Given the description of an element on the screen output the (x, y) to click on. 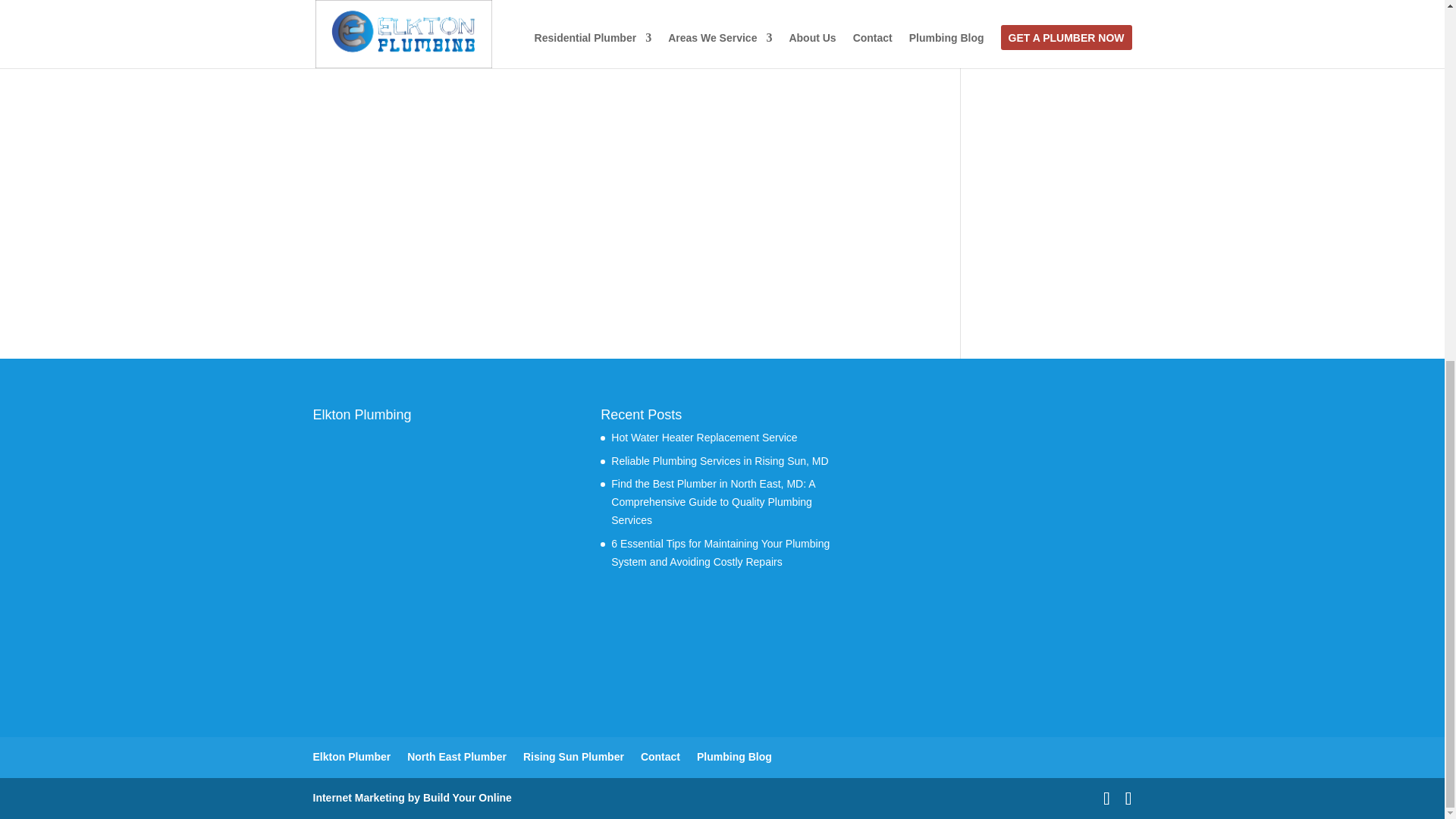
Advertisement (1057, 157)
